Given the description of an element on the screen output the (x, y) to click on. 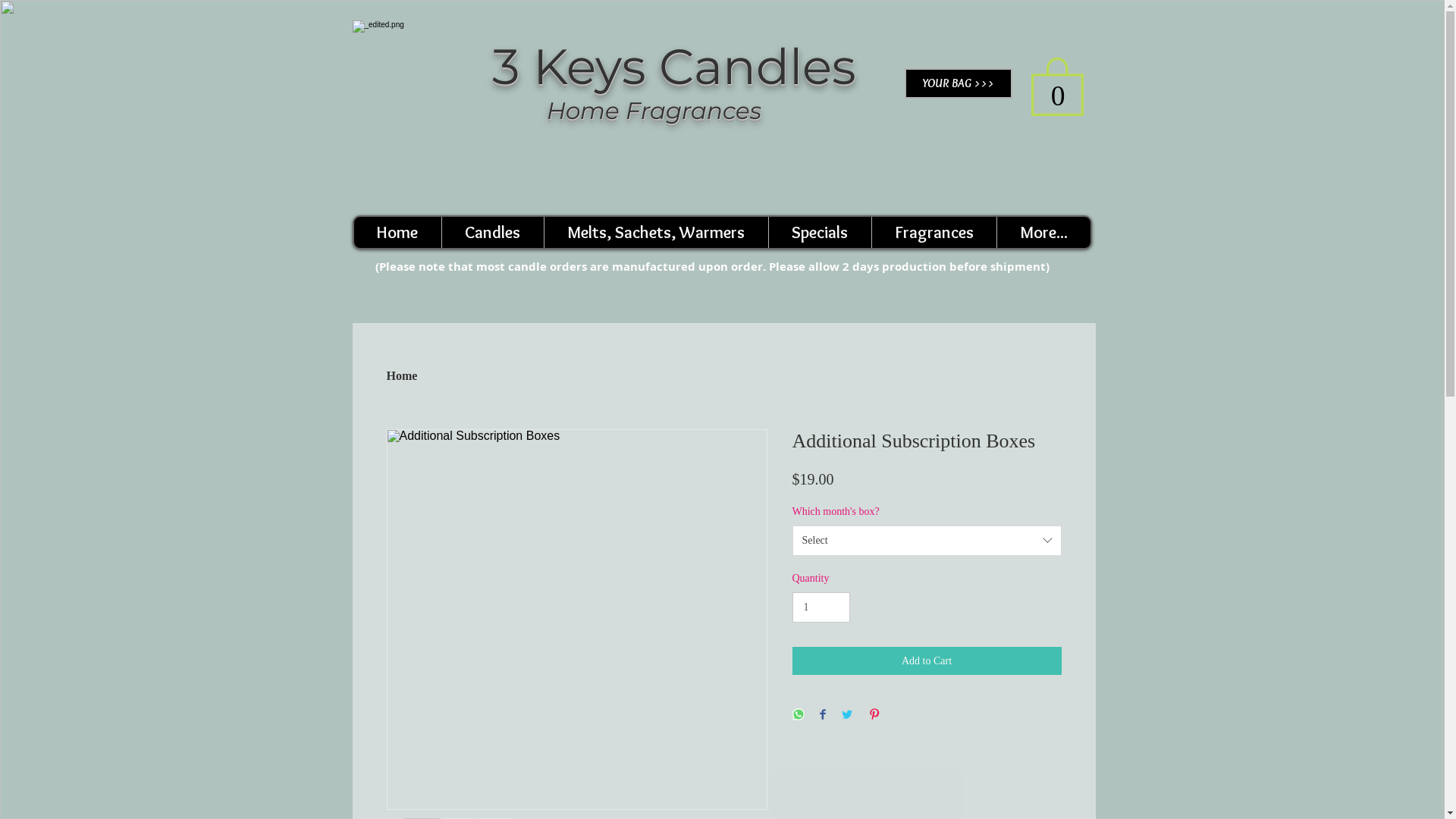
Add to Cart Element type: text (925, 660)
Specials Element type: text (818, 231)
Home Element type: text (401, 375)
0 Element type: text (1057, 84)
Home Element type: text (396, 231)
3 Keys Candles Element type: text (673, 66)
Select Element type: text (925, 540)
Melts, Sachets, Warmers Element type: text (654, 231)
Fragrances Element type: text (932, 231)
Candles Element type: text (492, 231)
